Given the description of an element on the screen output the (x, y) to click on. 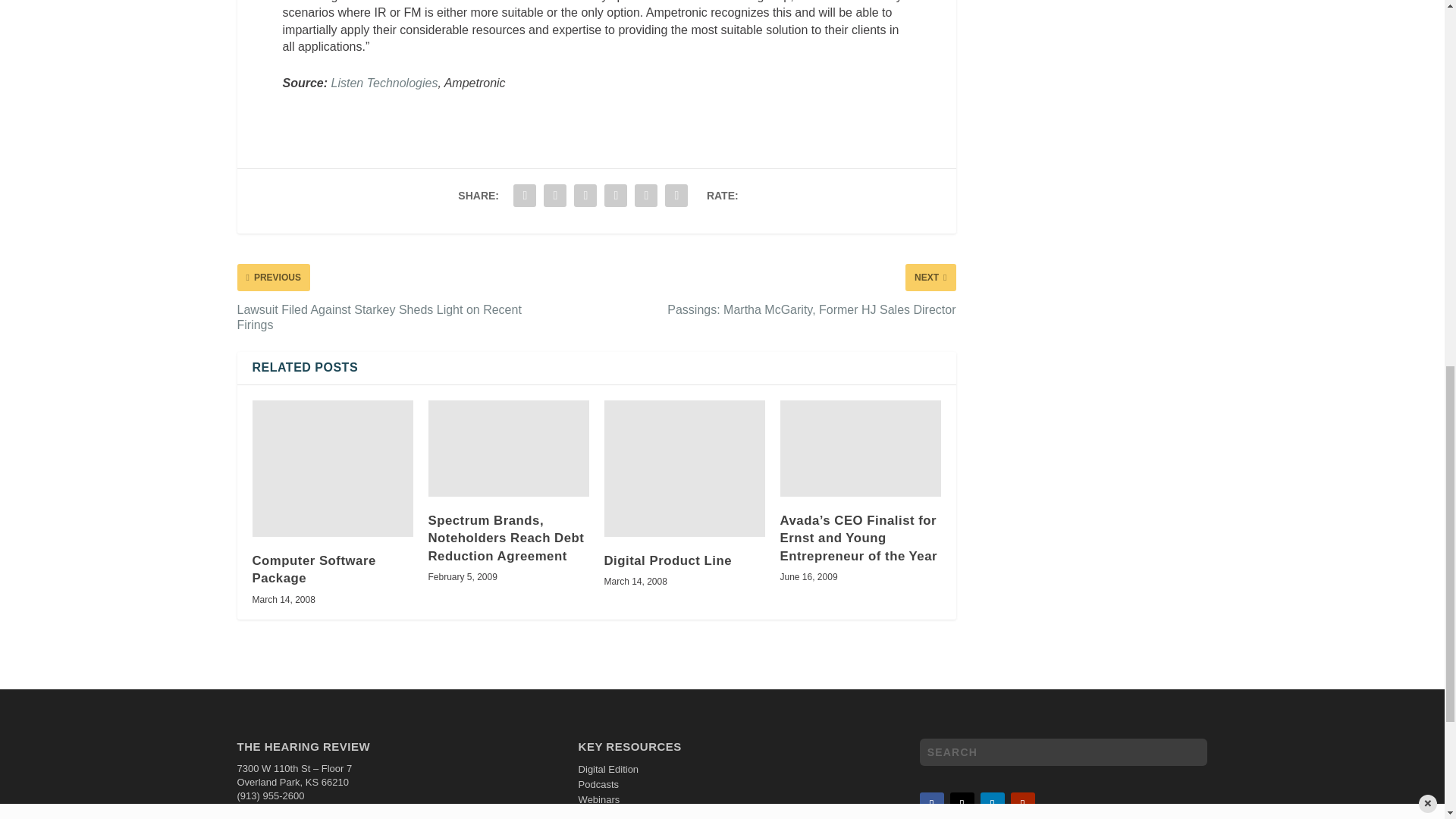
Digital Product Line (684, 468)
Spectrum Brands, Noteholders Reach Debt Reduction Agreement (508, 448)
Computer Software Package (331, 468)
HR coverage of Listen Technologies (384, 82)
